Given the description of an element on the screen output the (x, y) to click on. 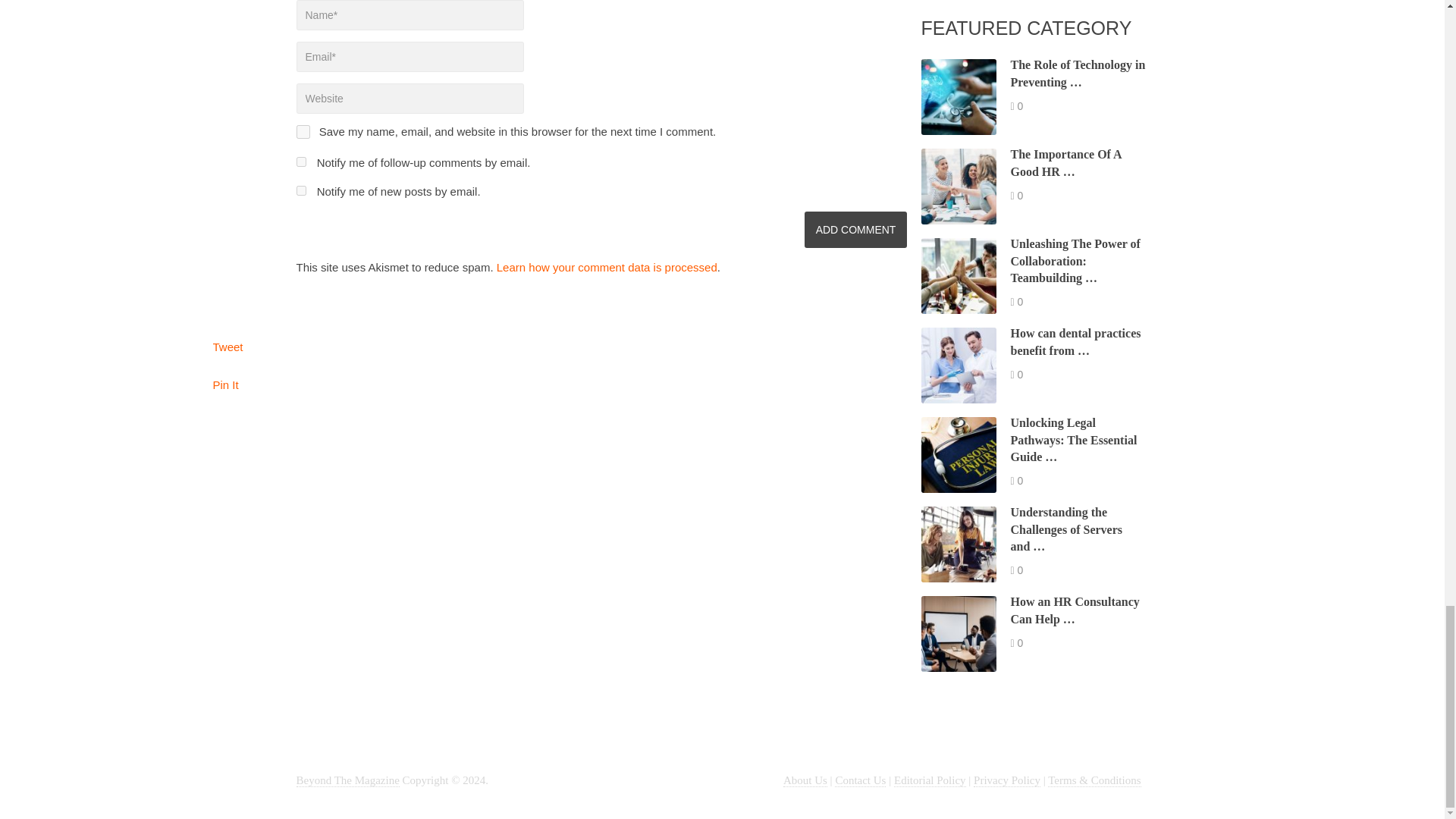
yes (301, 131)
subscribe (300, 162)
Add Comment (856, 229)
subscribe (300, 190)
